Given the description of an element on the screen output the (x, y) to click on. 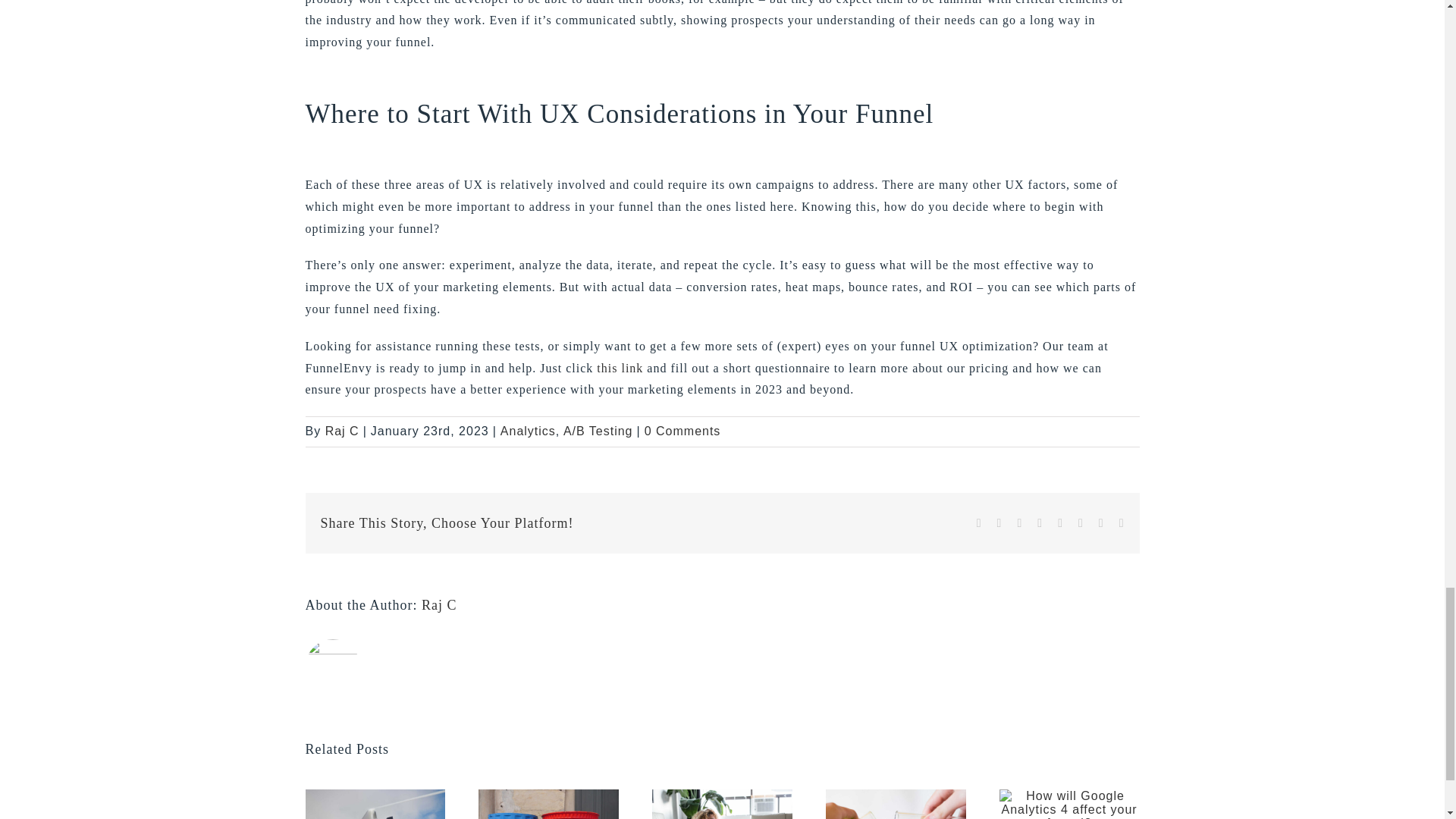
Facebook (978, 522)
LinkedIn (1039, 522)
Vk (1101, 522)
Posts by Raj C (439, 604)
Reddit (1019, 522)
Tumblr (1060, 522)
X (1000, 522)
Pinterest (1080, 522)
Posts by Raj C (341, 431)
Email (1121, 522)
